Given the description of an element on the screen output the (x, y) to click on. 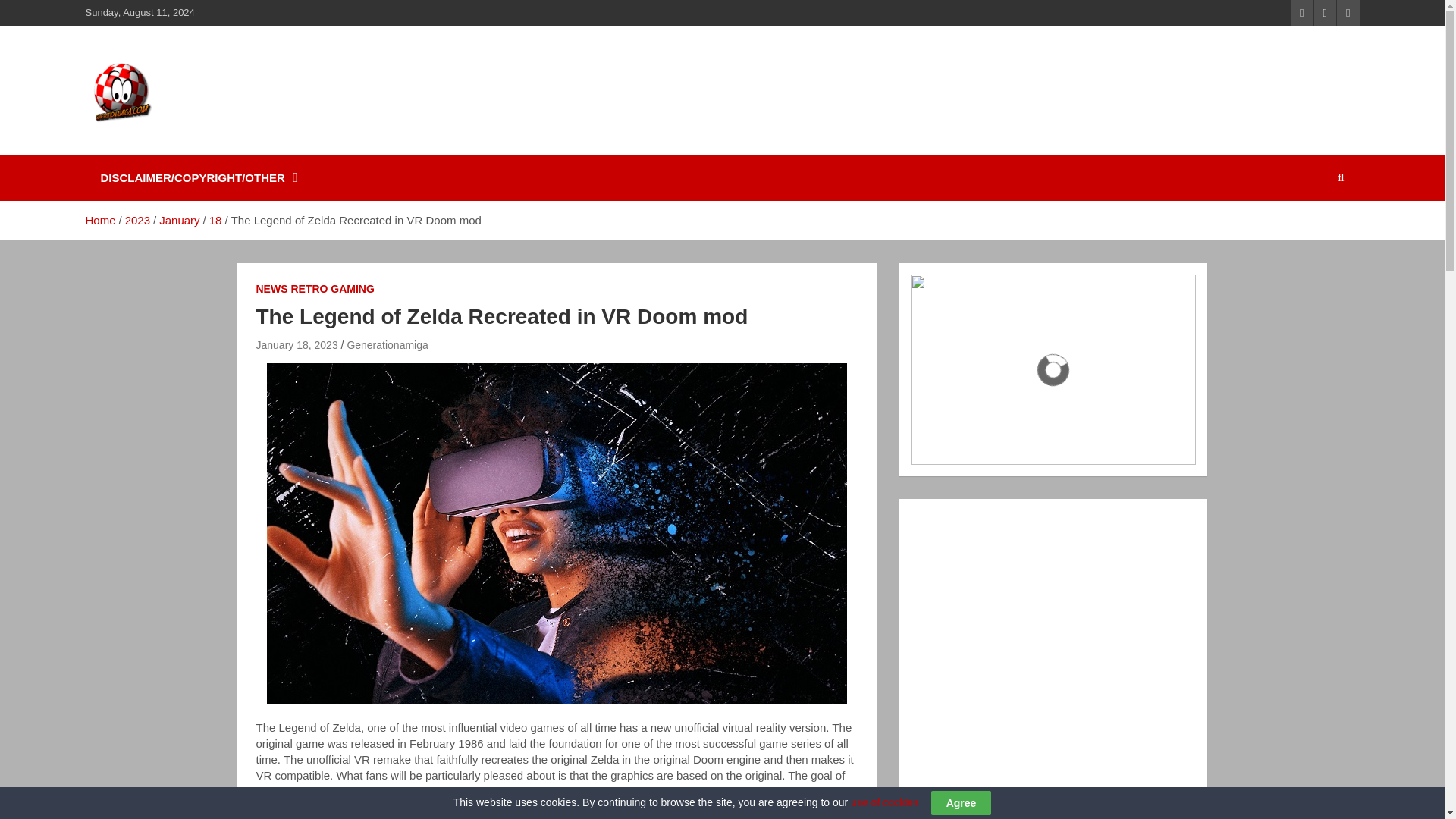
The Legend of Zelda Recreated in VR Doom mod (296, 345)
GenerationAmiga.com (246, 143)
Home (99, 219)
2023 (137, 219)
NEWS RETRO GAMING (315, 289)
January (178, 219)
January 18, 2023 (296, 345)
18 (215, 219)
Generationamiga (387, 345)
